Given the description of an element on the screen output the (x, y) to click on. 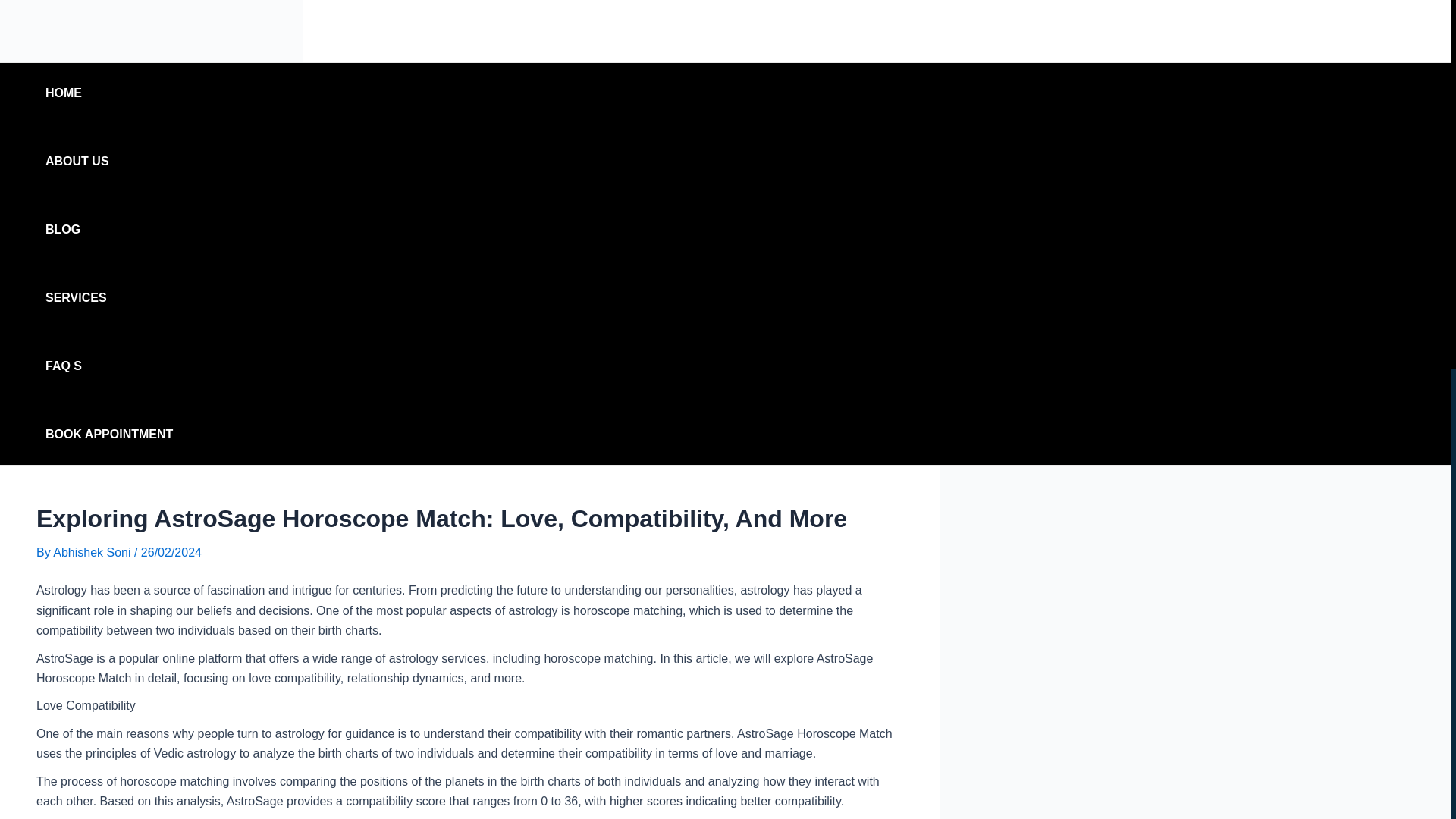
Abhishek Soni (92, 552)
HOME (109, 93)
ABOUT US (109, 161)
BOOK APPOINTMENT (109, 434)
SERVICES (109, 297)
abhishek Logo black - Astrologer Abhishek Soni (151, 31)
BLOG (109, 229)
FAQ S (109, 365)
View all posts by Abhishek Soni (92, 552)
